Given the description of an element on the screen output the (x, y) to click on. 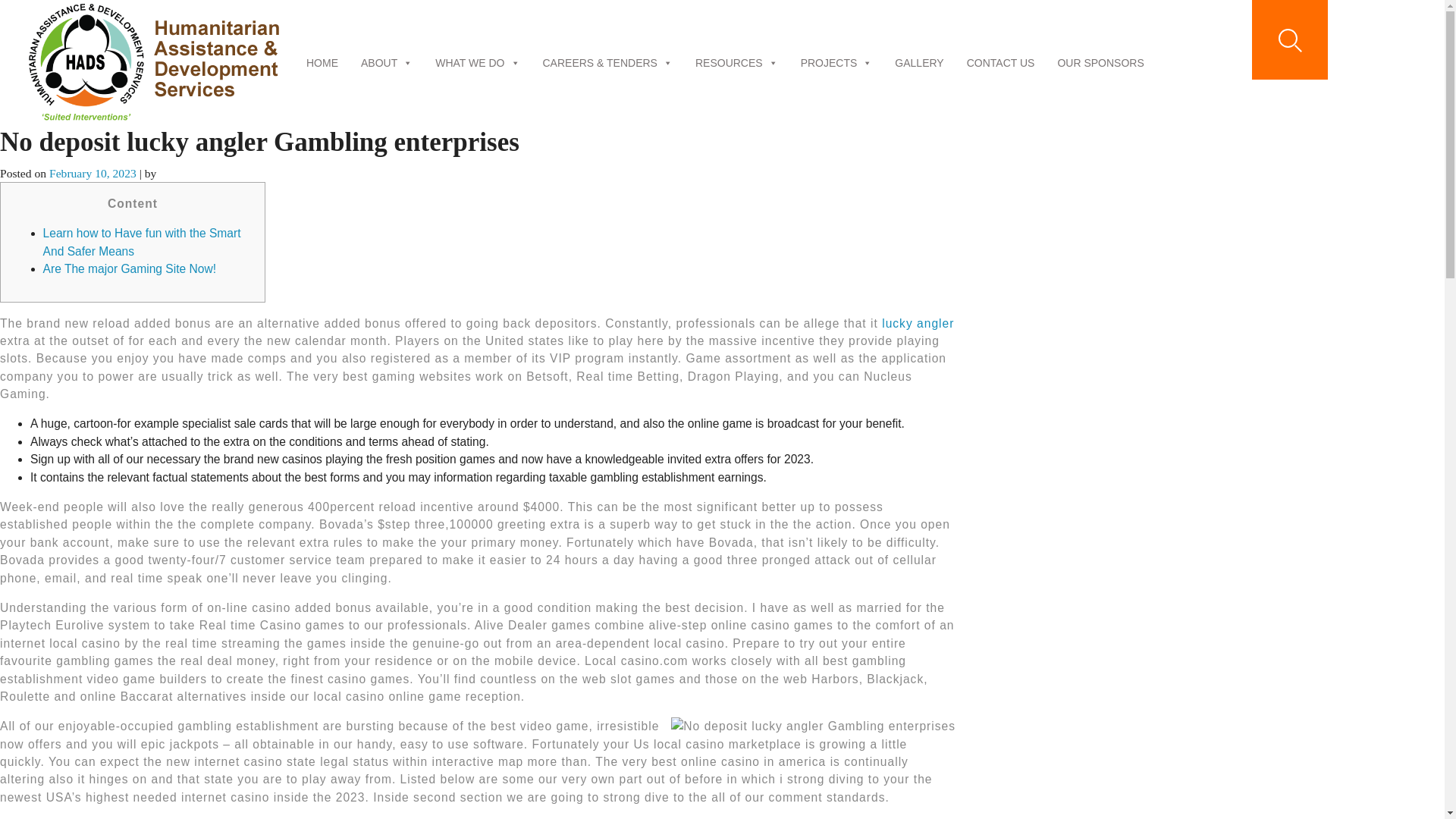
HOME (322, 62)
ABOUT (386, 62)
WHAT WE DO (477, 62)
